Given the description of an element on the screen output the (x, y) to click on. 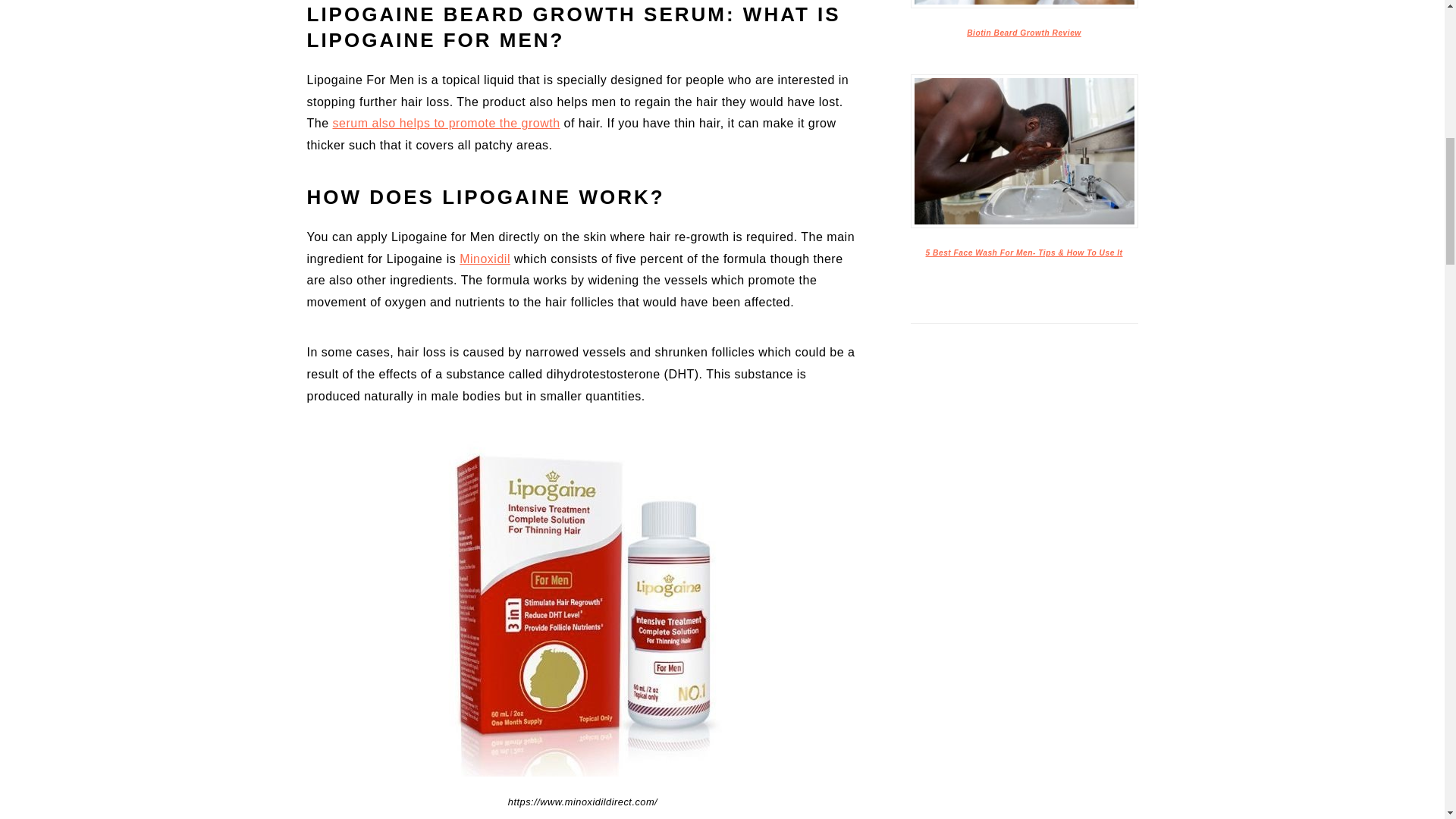
Minoxidil (485, 258)
serum also helps to promote the growth (446, 123)
